Given the description of an element on the screen output the (x, y) to click on. 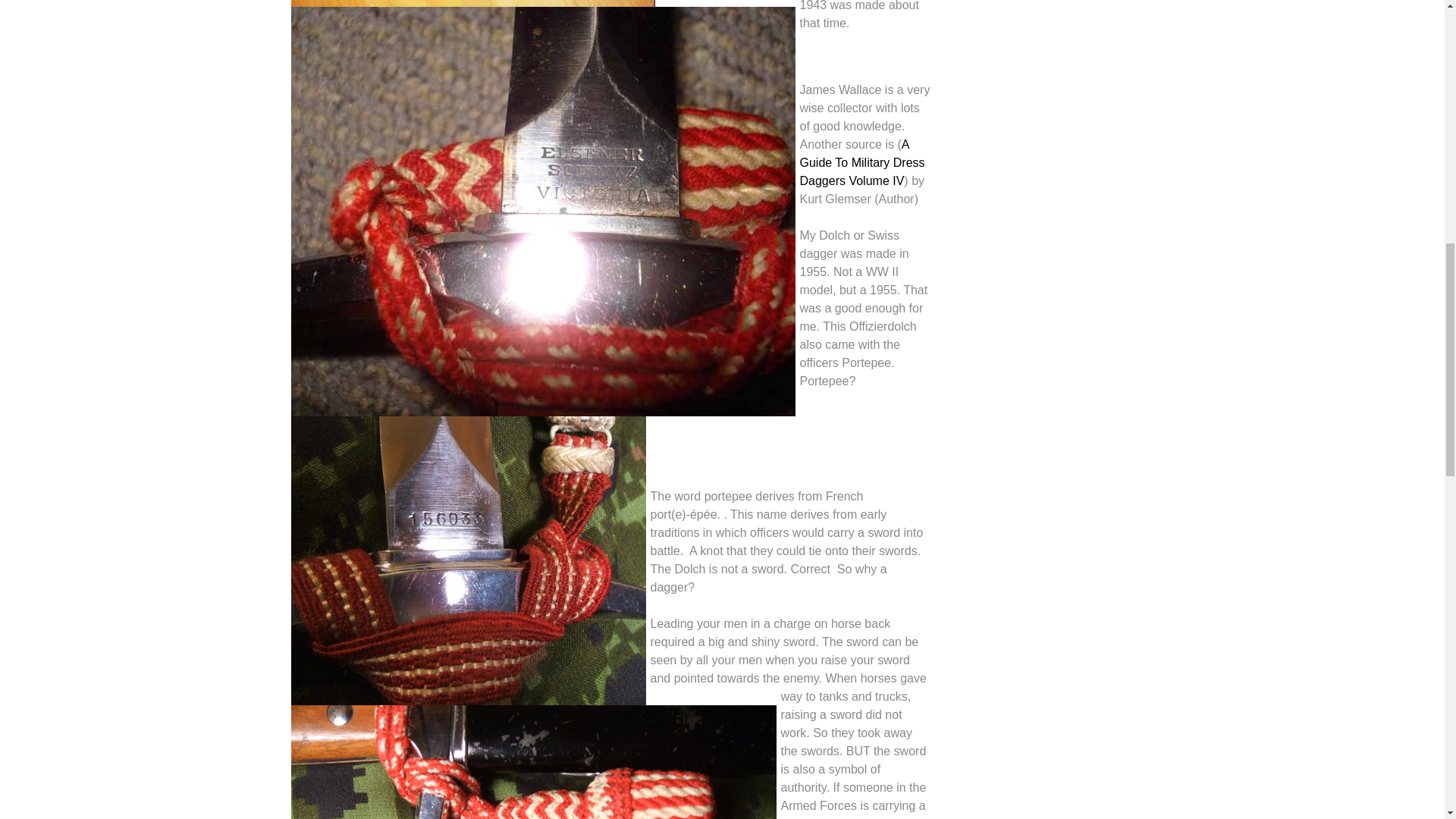
Advertisement (1063, 61)
